Given the description of an element on the screen output the (x, y) to click on. 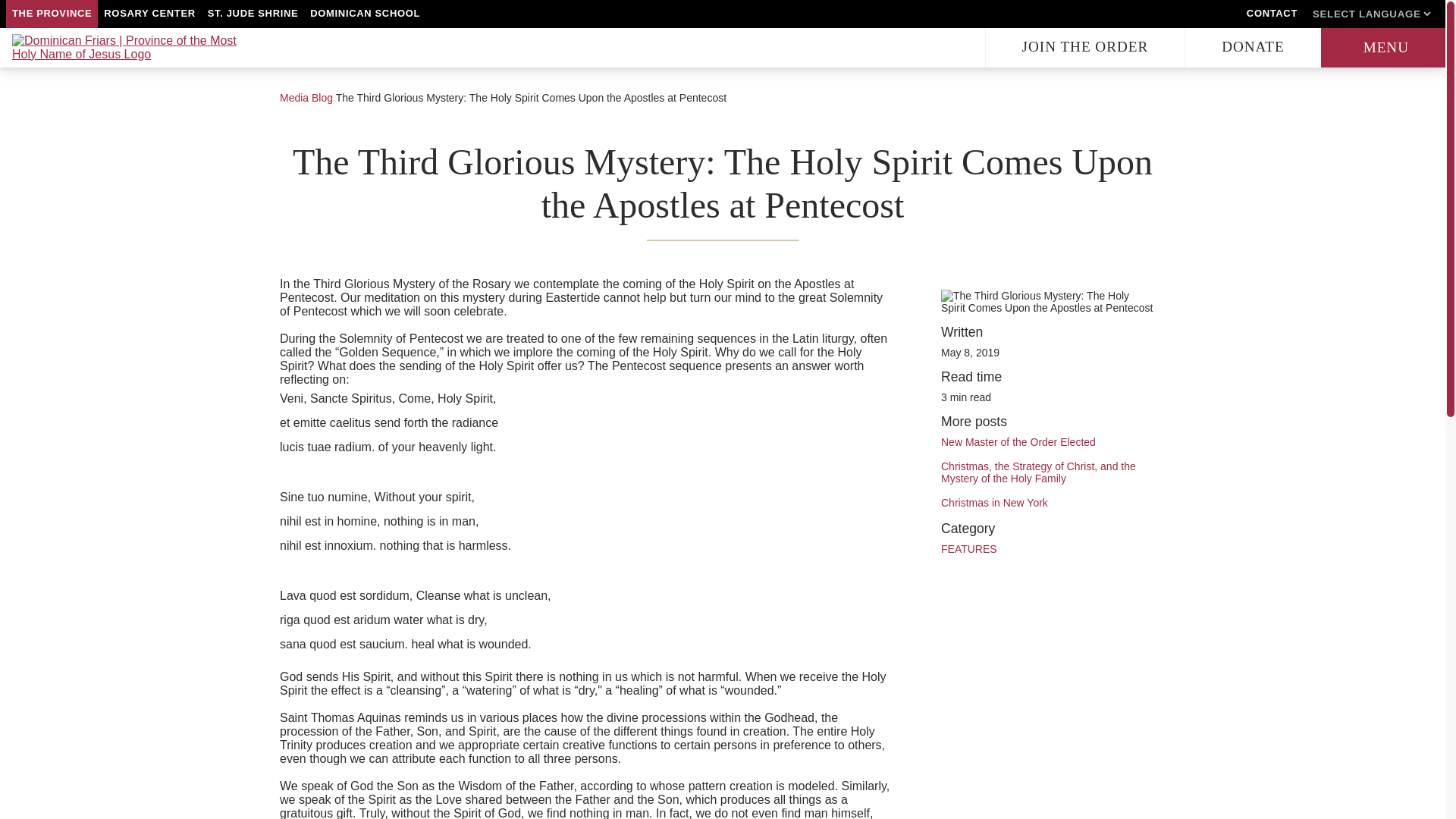
ST. JUDE SHRINE (253, 13)
DOMINICAN SCHOOL (365, 13)
ROSARY CENTER (148, 13)
CONTACT (1271, 13)
THE PROVINCE (51, 13)
Return Home (125, 47)
